Given the description of an element on the screen output the (x, y) to click on. 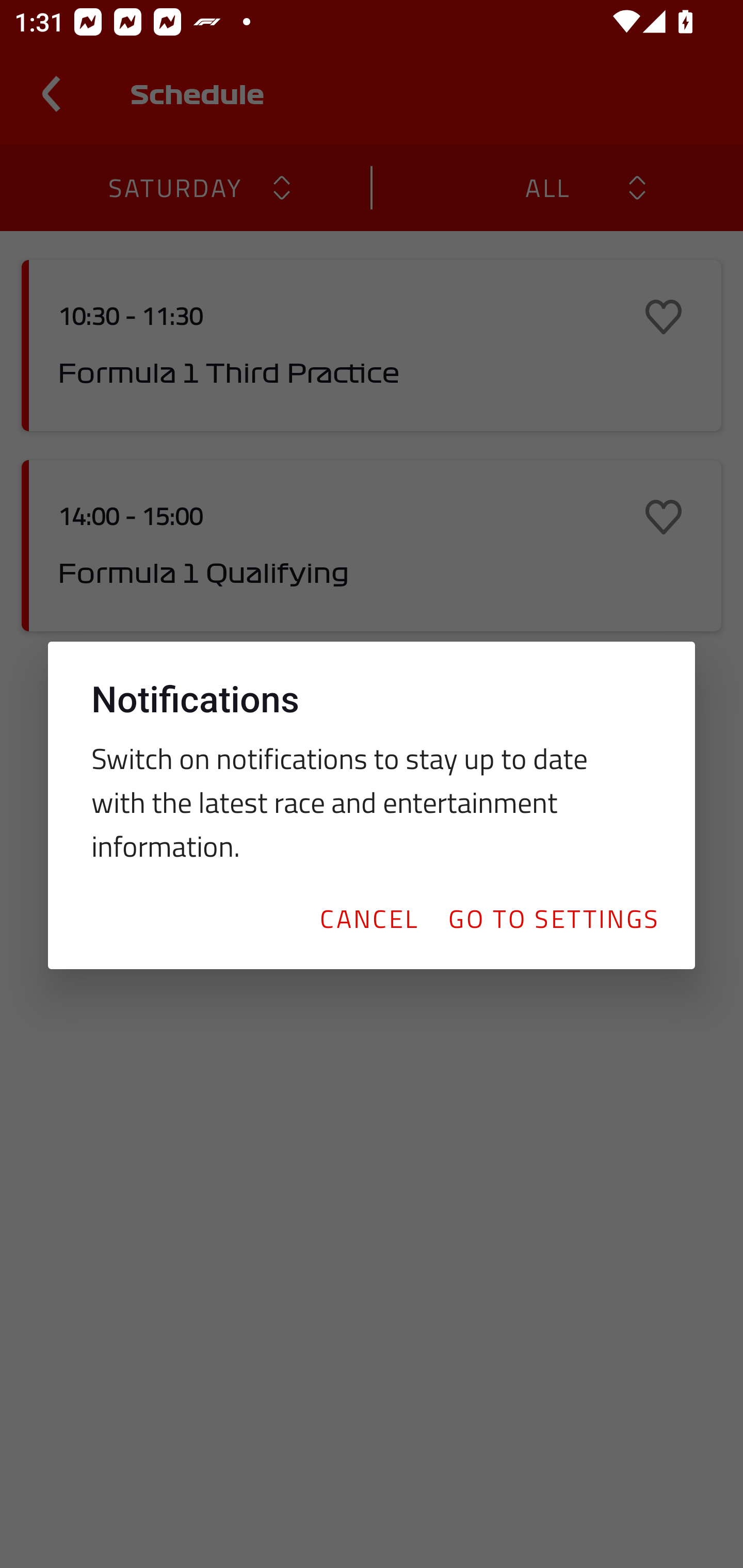
CANCEL (367, 917)
GO TO SETTINGS (552, 917)
